Given the description of an element on the screen output the (x, y) to click on. 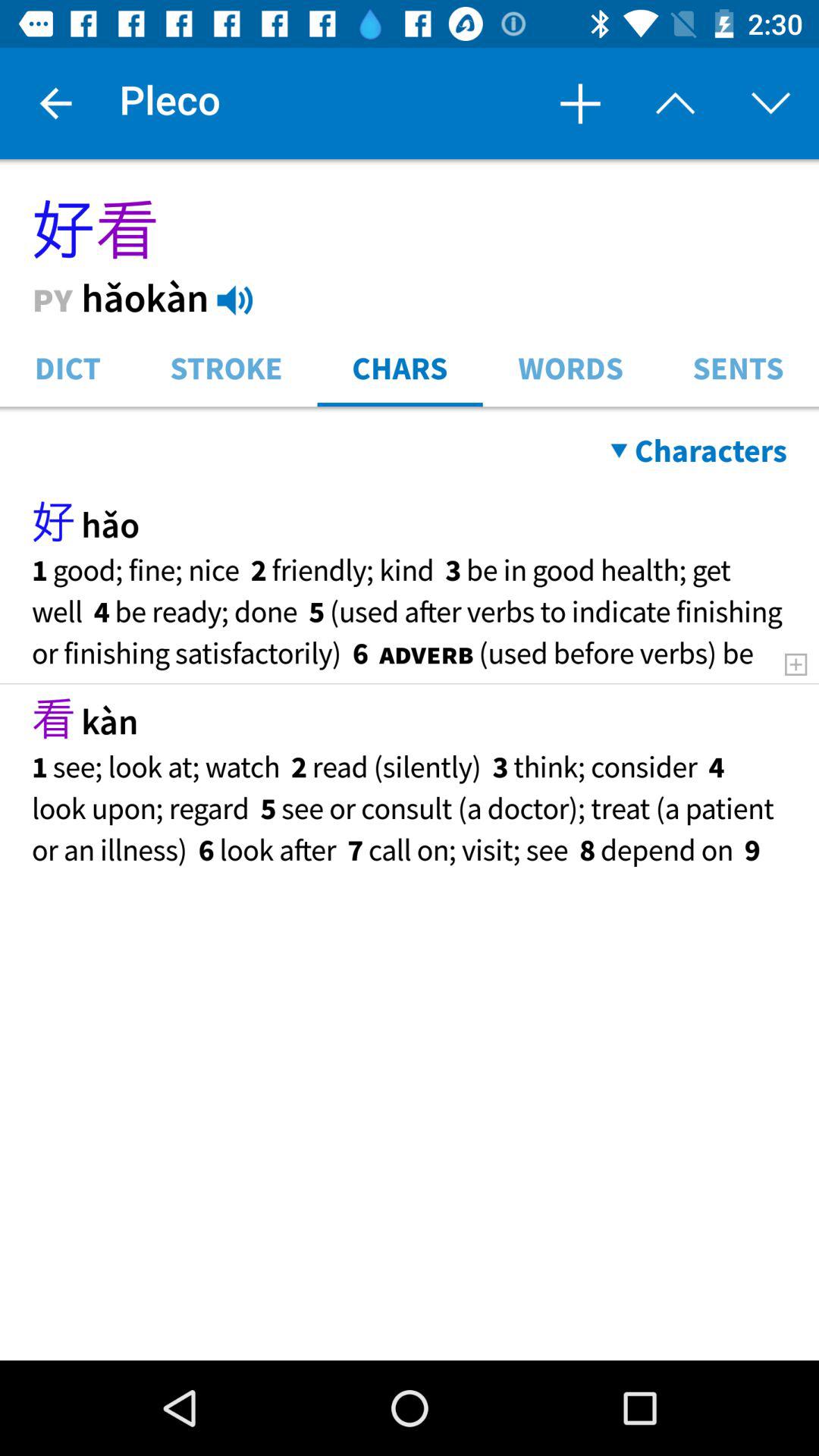
tap characters (698, 450)
